Given the description of an element on the screen output the (x, y) to click on. 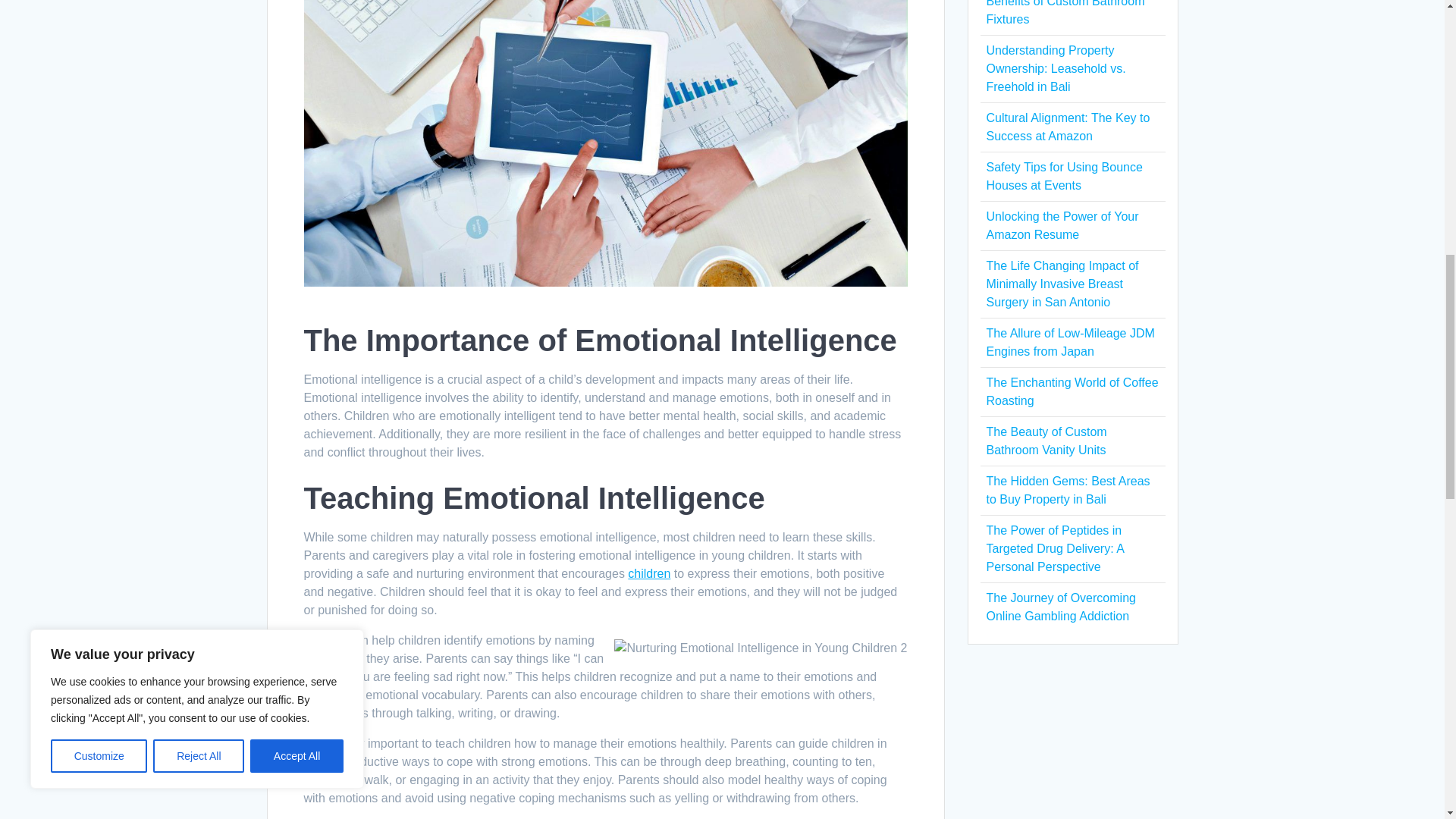
Cultural Alignment: The Key to Success at Amazon (1067, 126)
children (648, 573)
Safety Tips for Using Bounce Houses at Events (1063, 175)
